Given the description of an element on the screen output the (x, y) to click on. 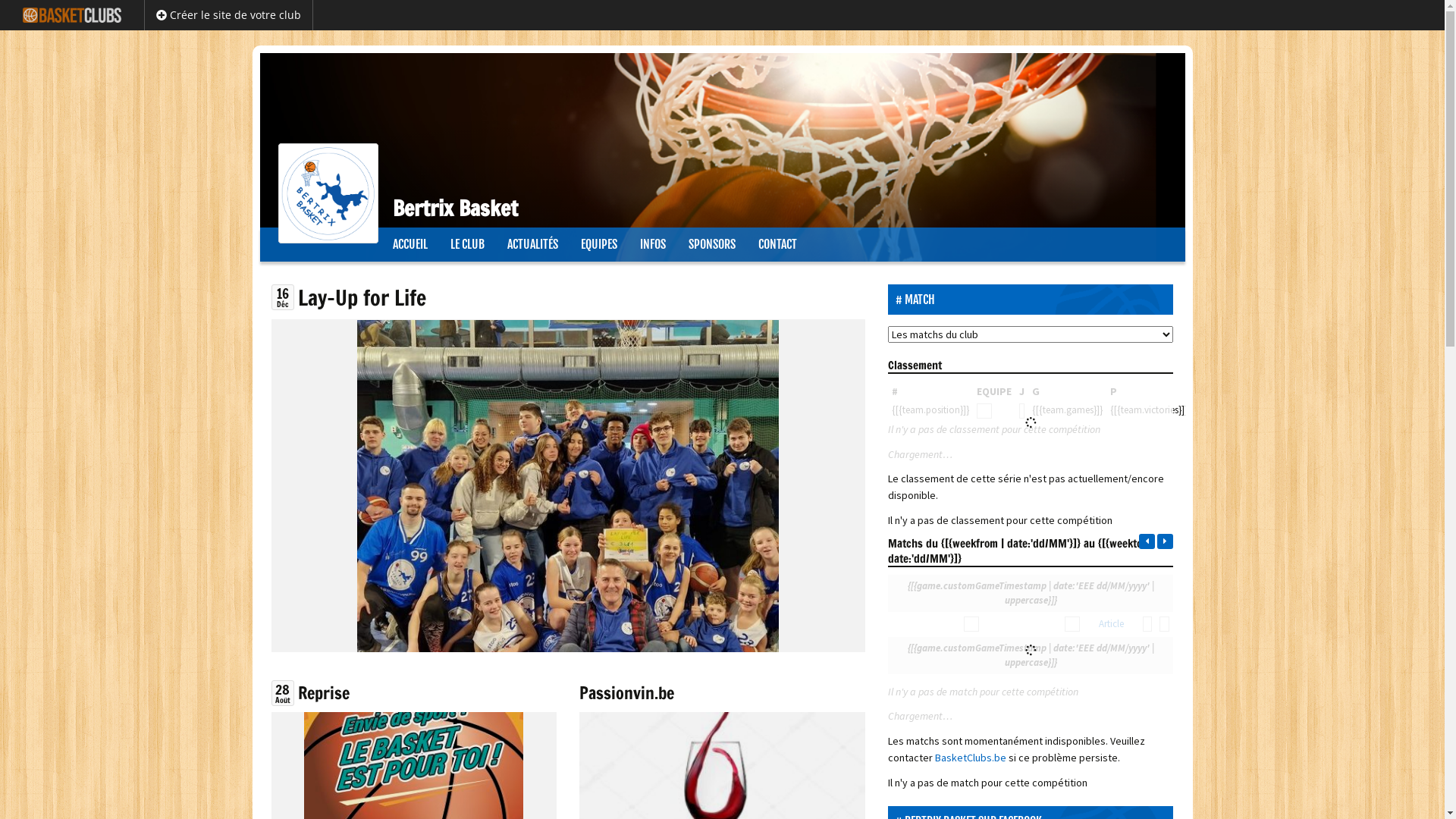
INFOS Element type: text (651, 244)
EQUIPES Element type: text (597, 244)
Bertrix Basket Element type: text (721, 140)
BasketClubs.be Element type: text (971, 757)
CONTACT Element type: text (776, 244)
Article Element type: text (1110, 623)
LE CLUB Element type: text (466, 244)
Passionvin.be Element type: text (626, 692)
SPONSORS Element type: text (711, 244)
ACCUEIL Element type: text (409, 244)
Passer au contenu Element type: text (303, 236)
